Given the description of an element on the screen output the (x, y) to click on. 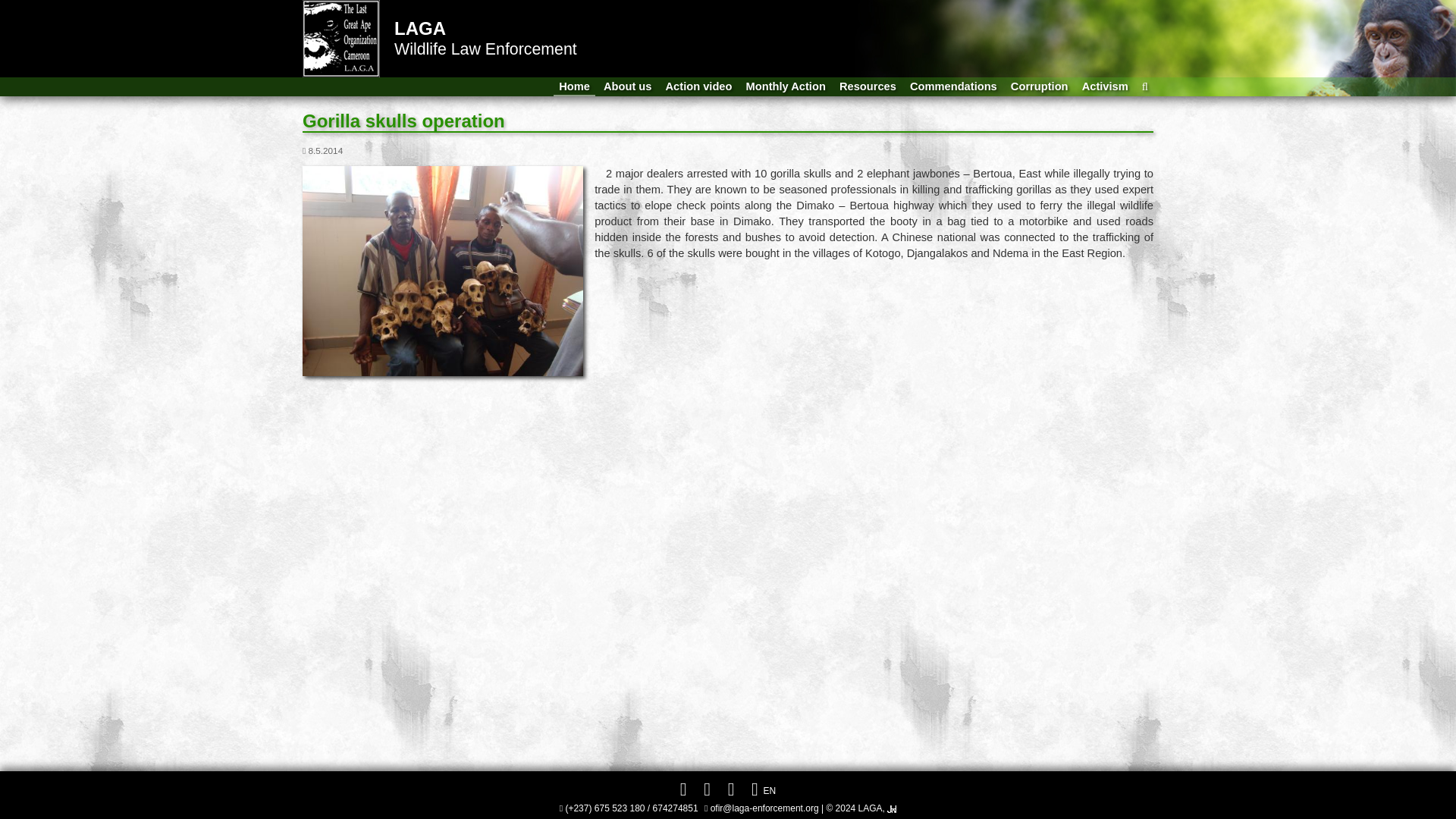
About us (628, 86)
Action video (699, 86)
Monthly Action (786, 86)
Home (574, 86)
